Given the description of an element on the screen output the (x, y) to click on. 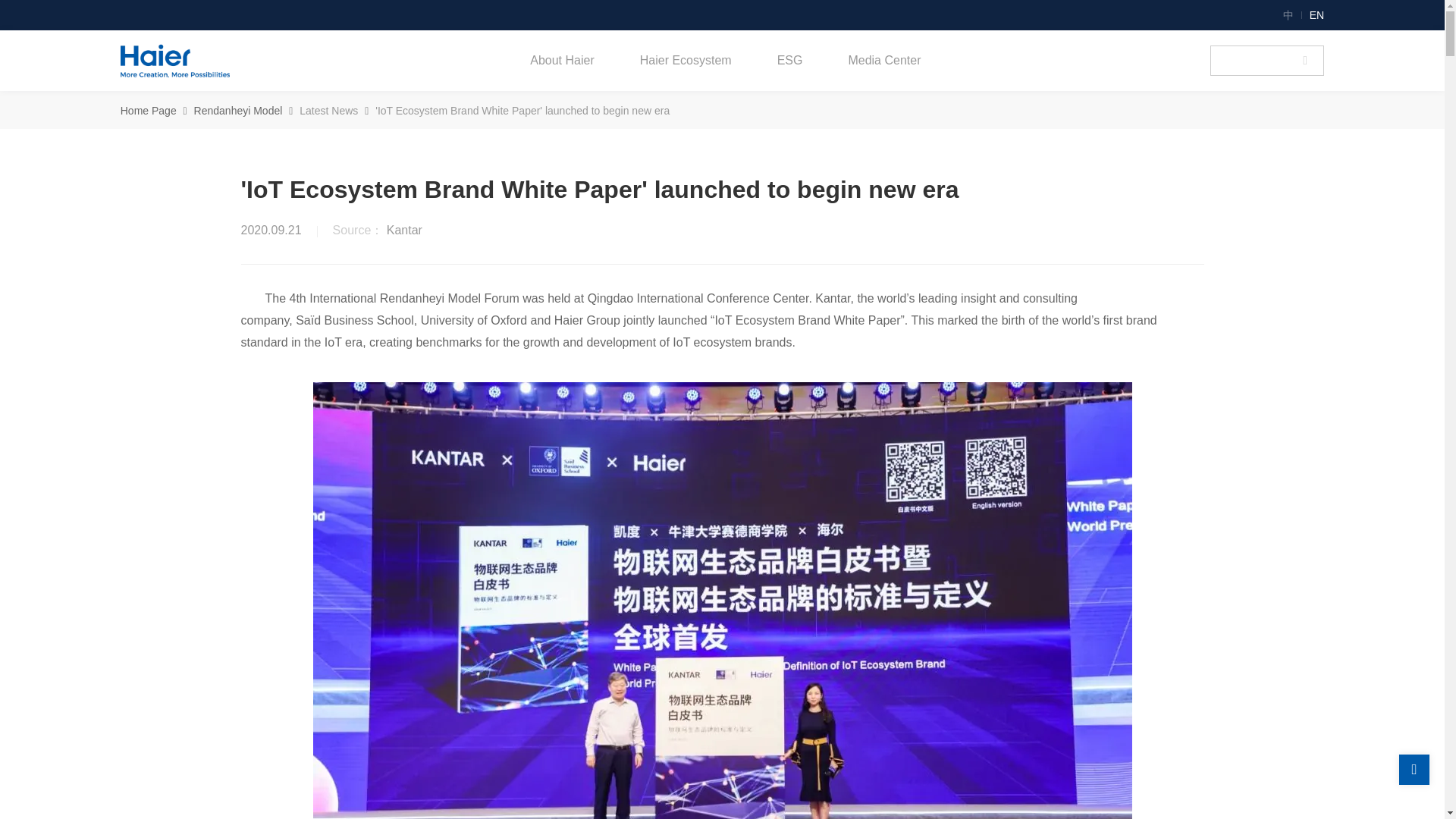
Haier Ecosystem (686, 60)
About Haier (561, 60)
